Given the description of an element on the screen output the (x, y) to click on. 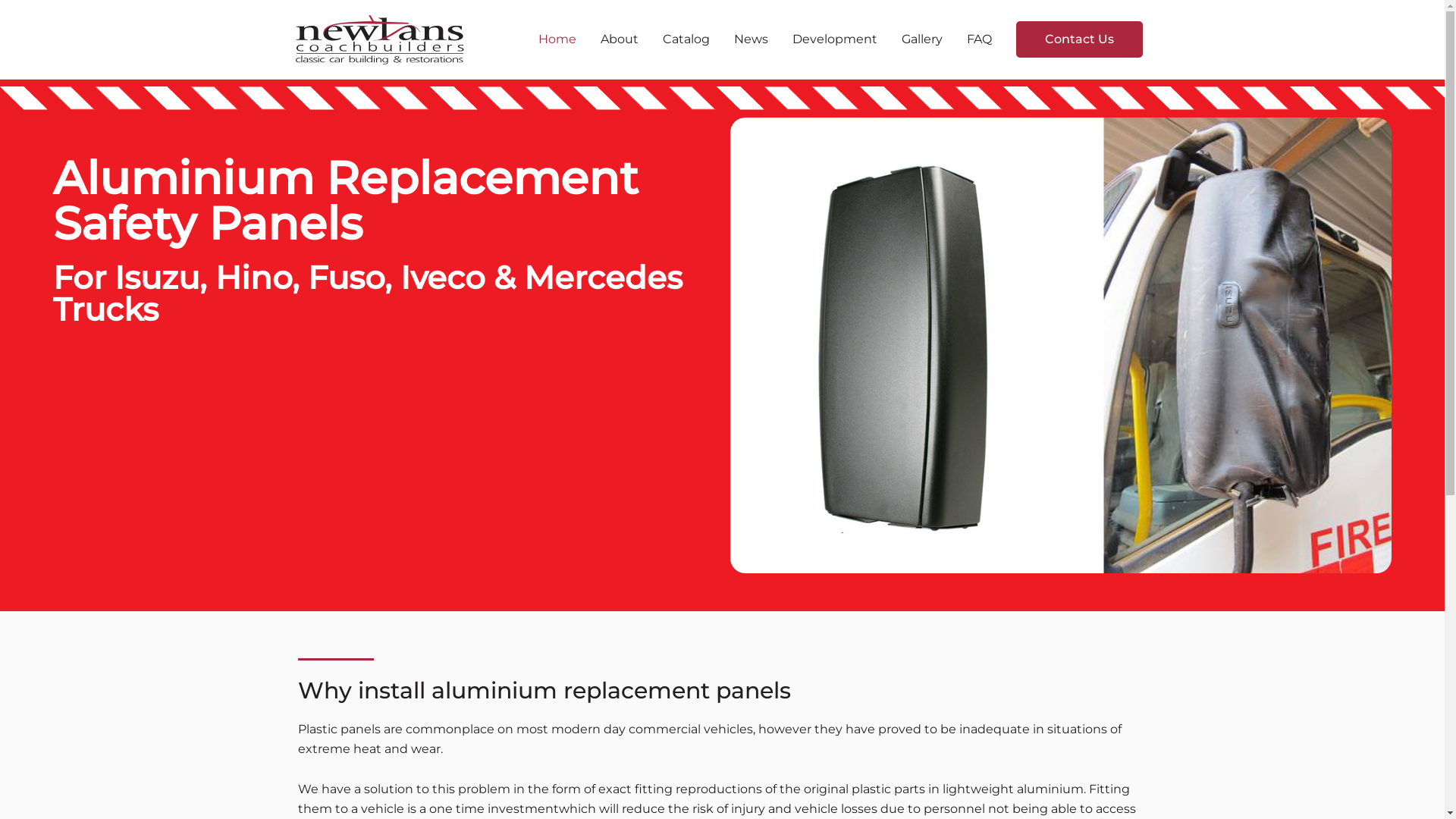
About Element type: text (619, 39)
Gallery Element type: text (920, 39)
FAQ Element type: text (978, 39)
Contact Us Element type: text (1079, 39)
News Element type: text (750, 39)
Catalog Element type: text (685, 39)
Home Element type: text (557, 39)
Development Element type: text (833, 39)
